Given the description of an element on the screen output the (x, y) to click on. 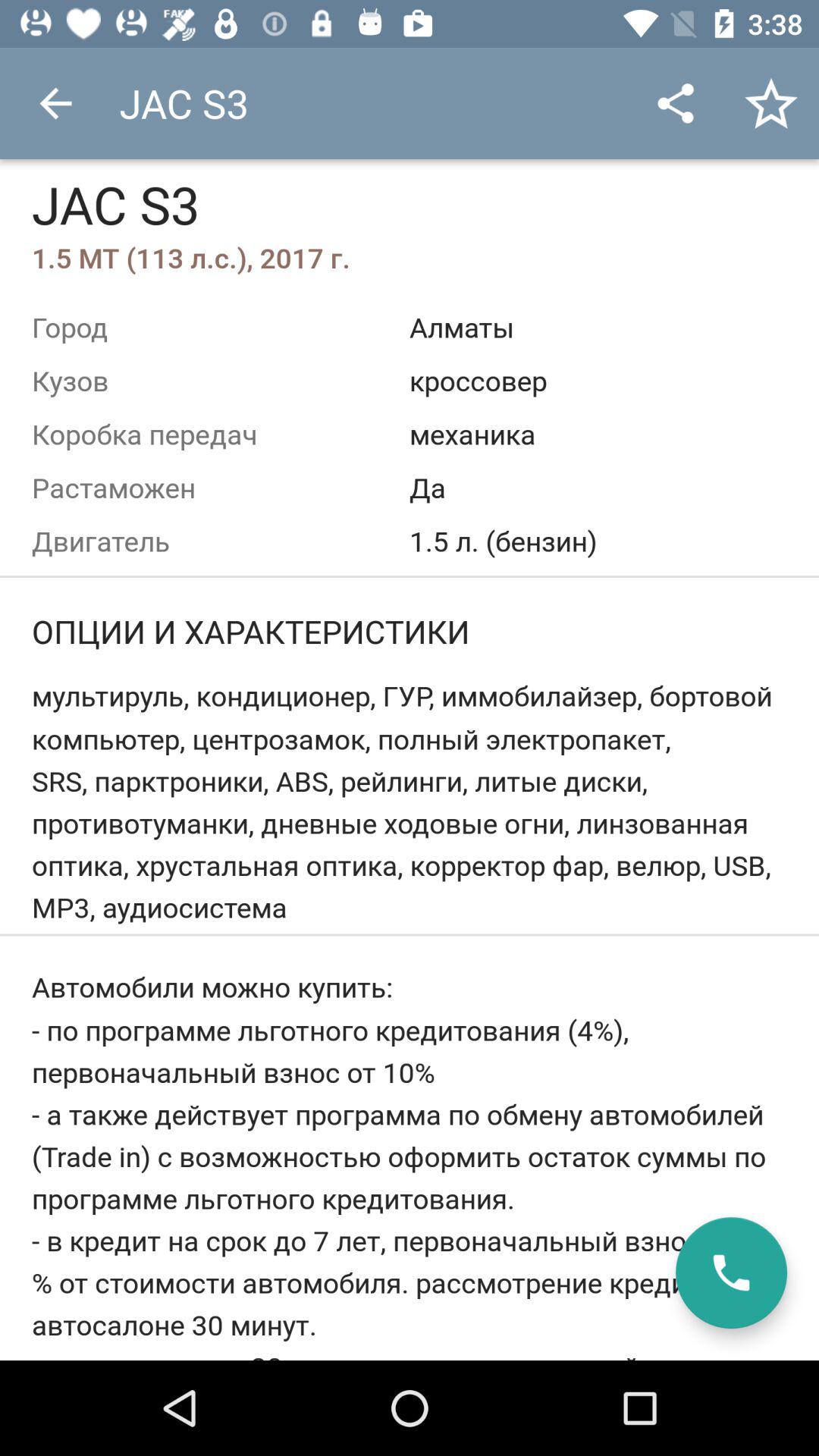
tap item to the left of jac s3 (55, 103)
